Given the description of an element on the screen output the (x, y) to click on. 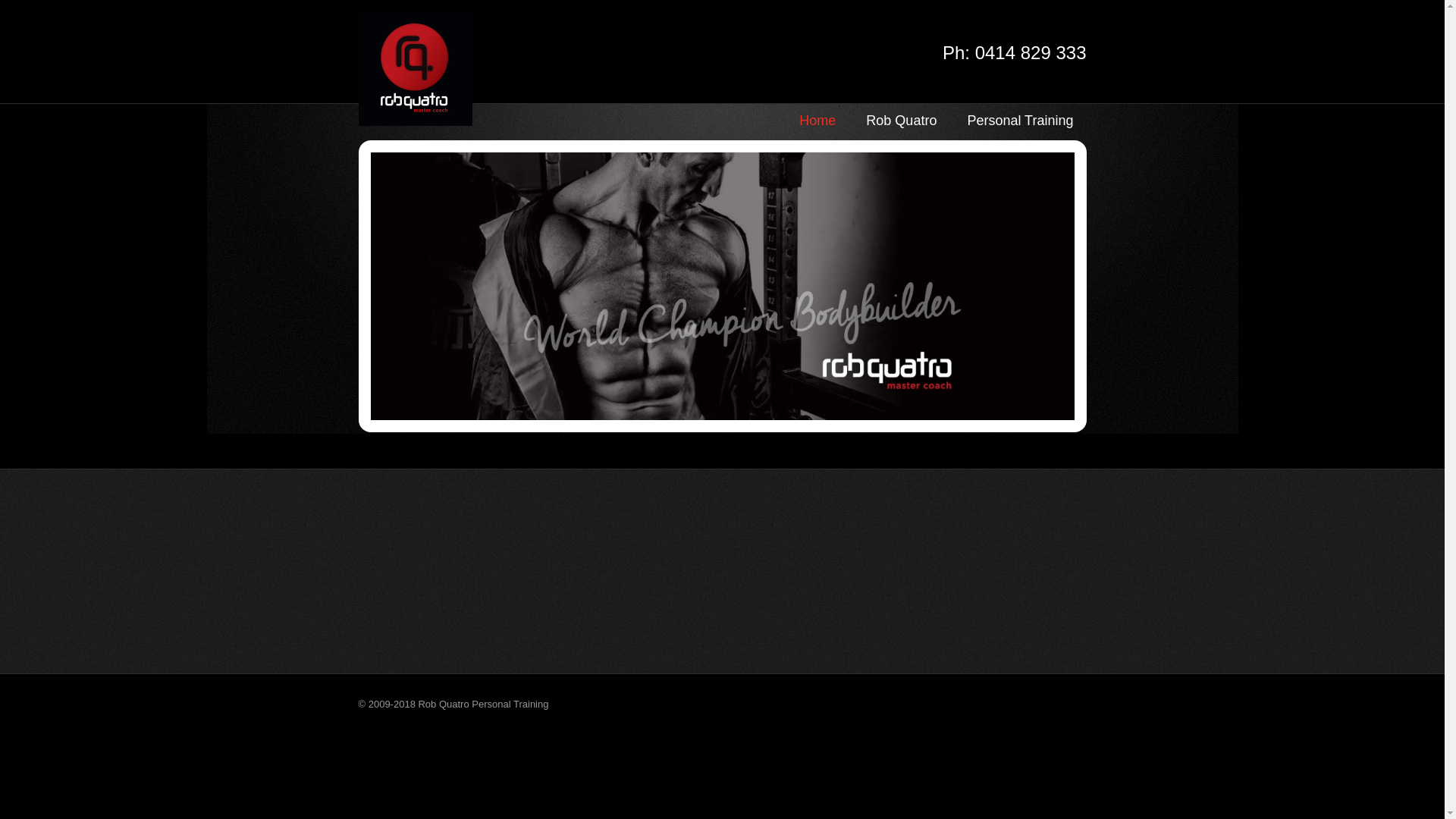
Home Element type: text (817, 120)
Rob Quatro Element type: text (901, 120)
Personal Training Element type: text (1016, 120)
